Given the description of an element on the screen output the (x, y) to click on. 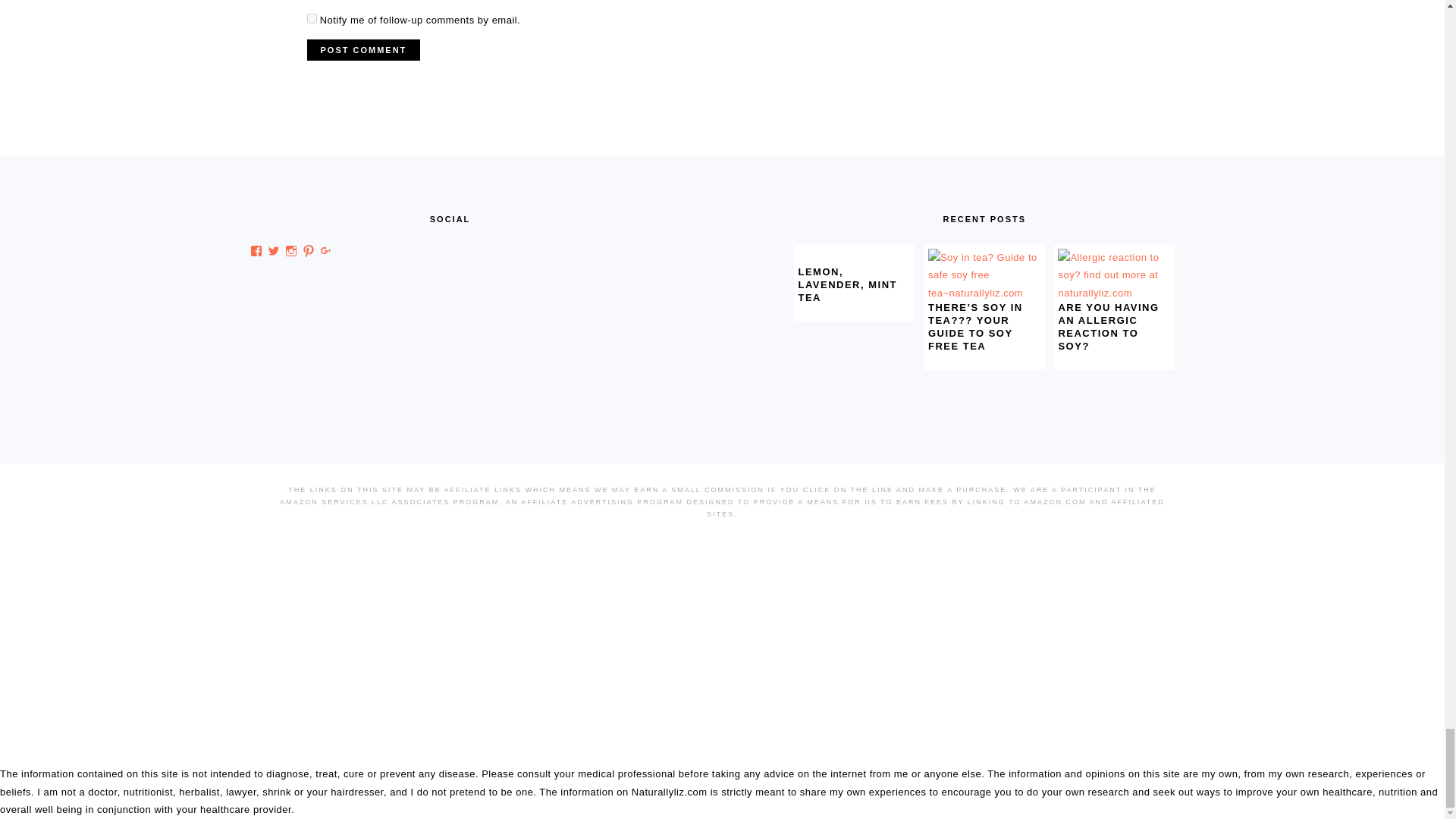
Post Comment (362, 49)
Are you having an allergic reaction to soy? (1114, 292)
subscribe (310, 18)
